Given the description of an element on the screen output the (x, y) to click on. 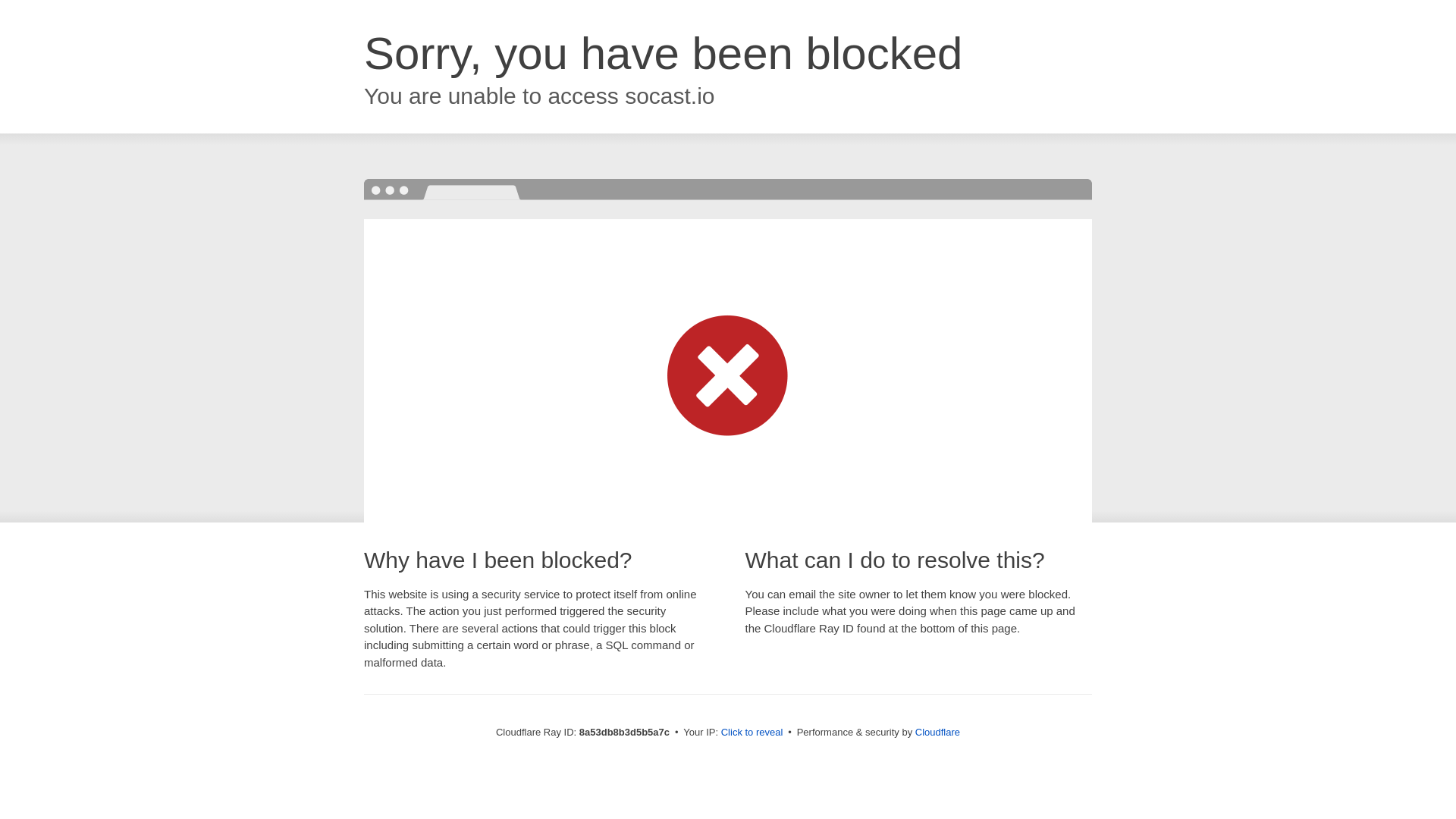
Cloudflare (937, 731)
Click to reveal (751, 732)
